Given the description of an element on the screen output the (x, y) to click on. 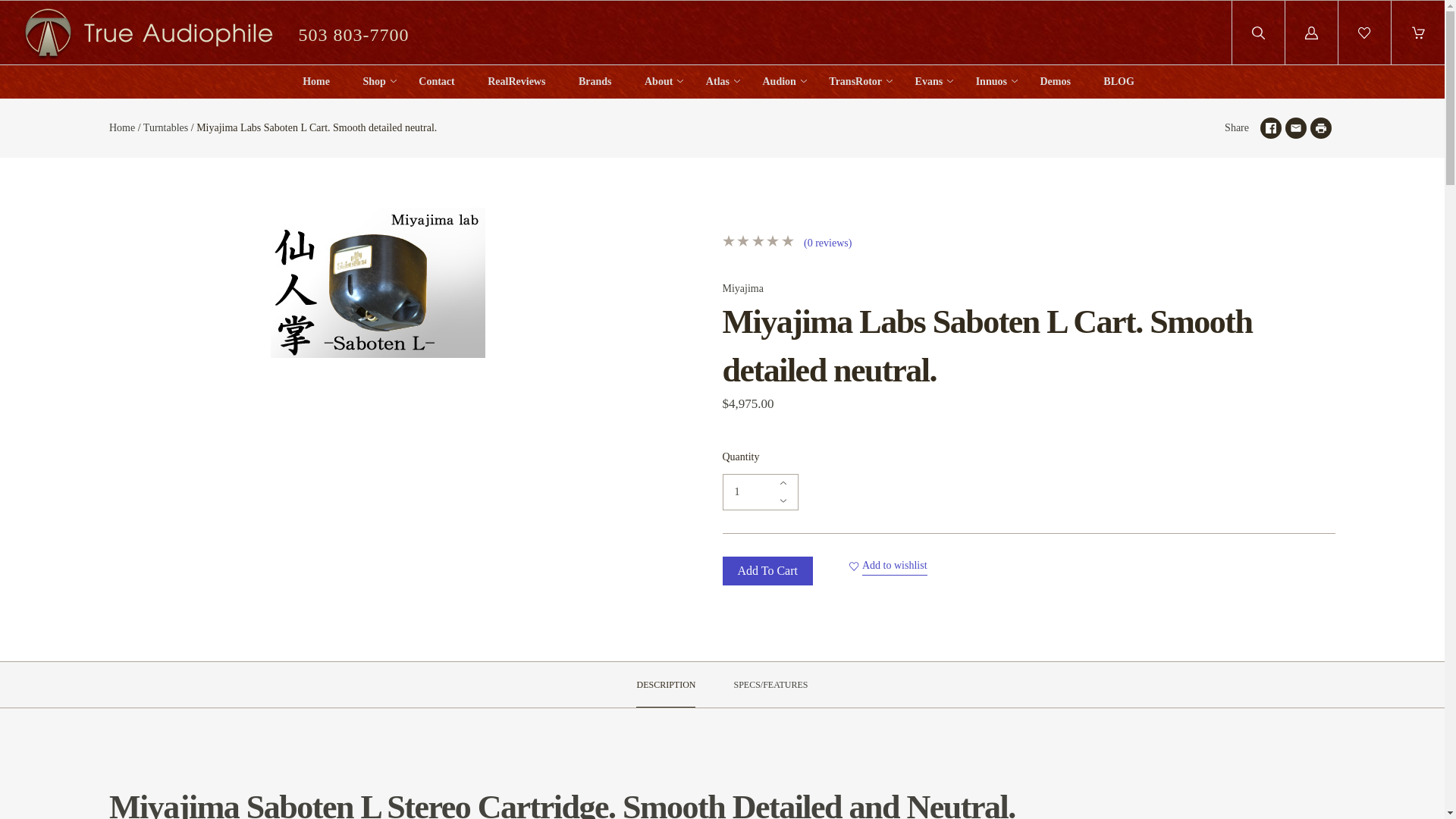
1 (759, 492)
Home (316, 81)
Log in (1311, 32)
503 803-7700 (353, 32)
Shop (373, 81)
